Given the description of an element on the screen output the (x, y) to click on. 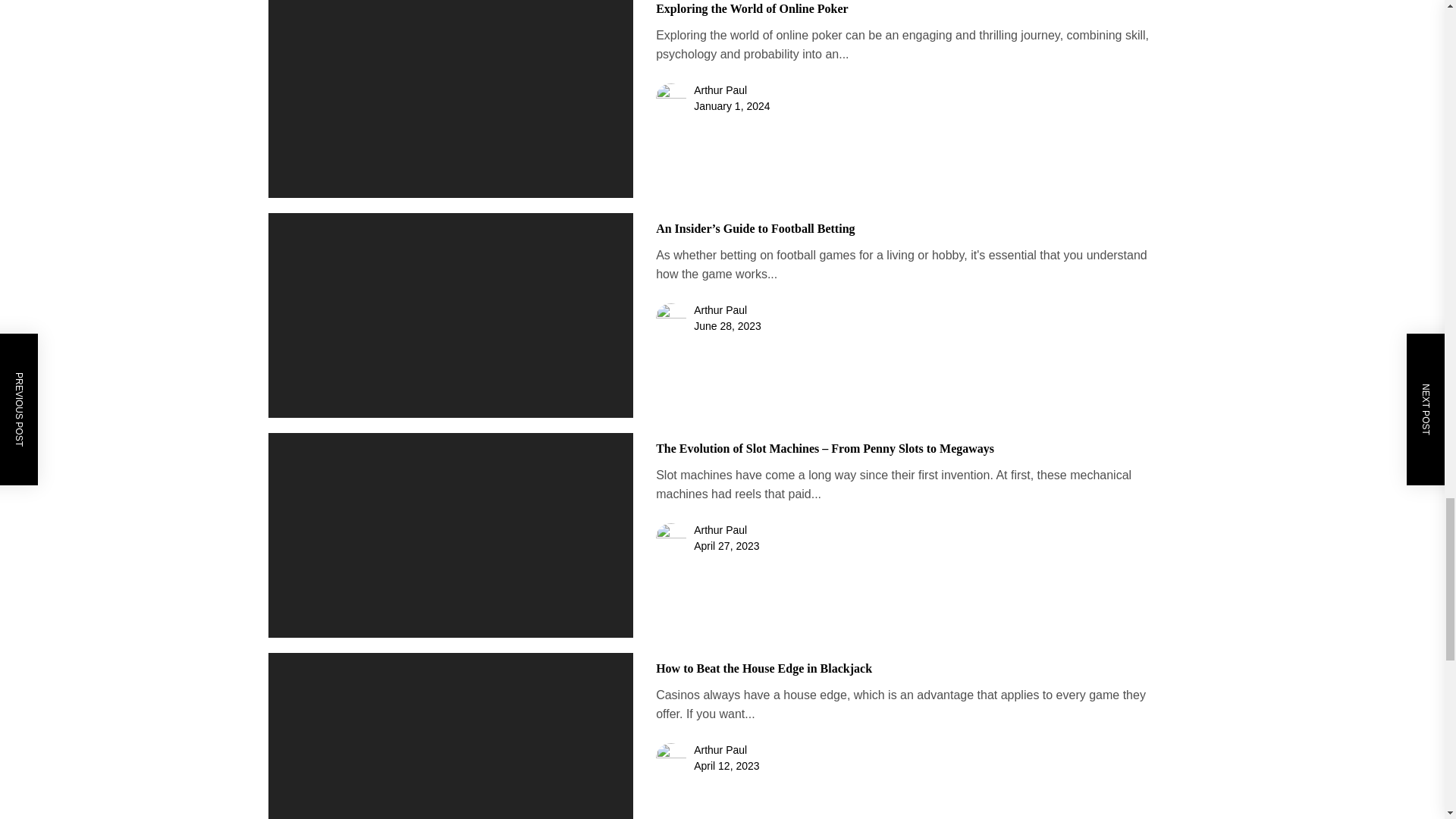
Exploring the World of Online Poker (752, 8)
June 28, 2023 (727, 326)
Arthur Paul (720, 309)
Arthur Paul (720, 749)
January 1, 2024 (732, 105)
How to Beat the House Edge in Blackjack (764, 667)
Arthur Paul (720, 530)
Arthur Paul (720, 90)
April 27, 2023 (726, 545)
